Given the description of an element on the screen output the (x, y) to click on. 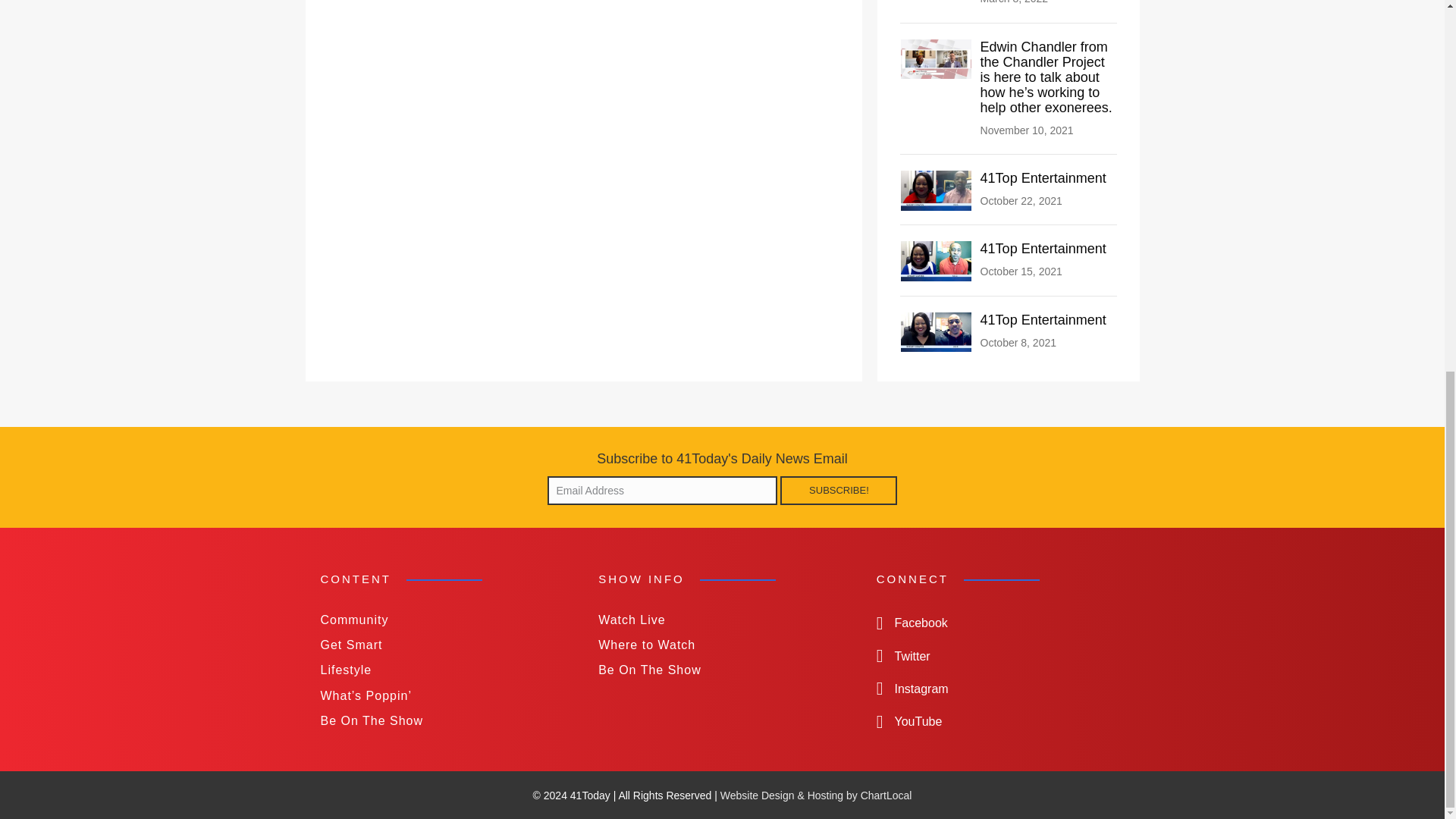
41Top Entertainment (936, 259)
Community (443, 619)
41Top Entertainment (936, 330)
41Top Entertainment (1042, 319)
SUBSCRIBE! (838, 490)
41Top Entertainment (1042, 177)
Be On The Show (443, 720)
41Top Entertainment (1042, 319)
41Top Entertainment (936, 189)
Get Smart (443, 644)
